Given the description of an element on the screen output the (x, y) to click on. 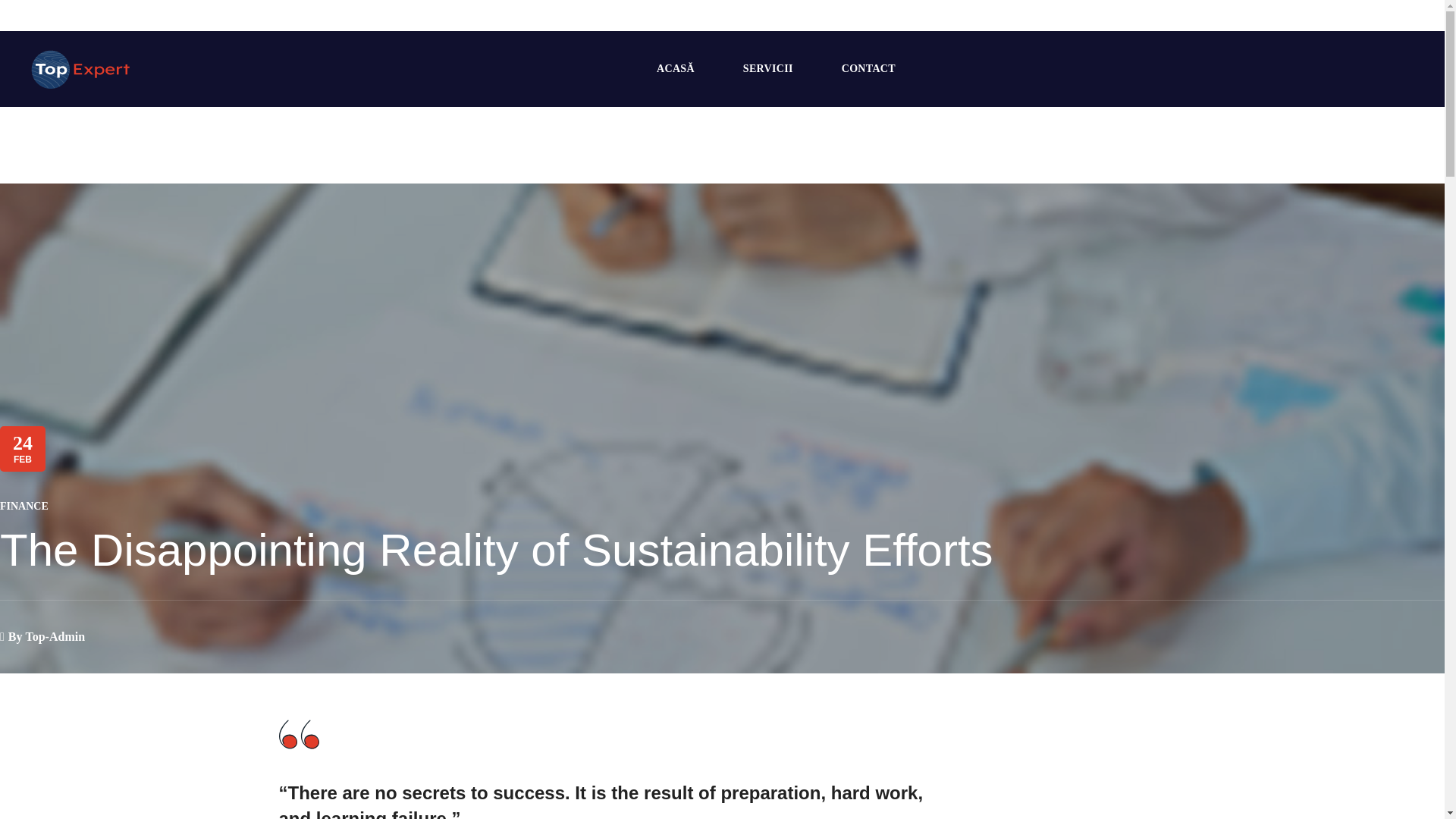
CONTACT (868, 69)
FINANCE (24, 506)
Top-Admin (55, 635)
SERVICII (767, 69)
